Given the description of an element on the screen output the (x, y) to click on. 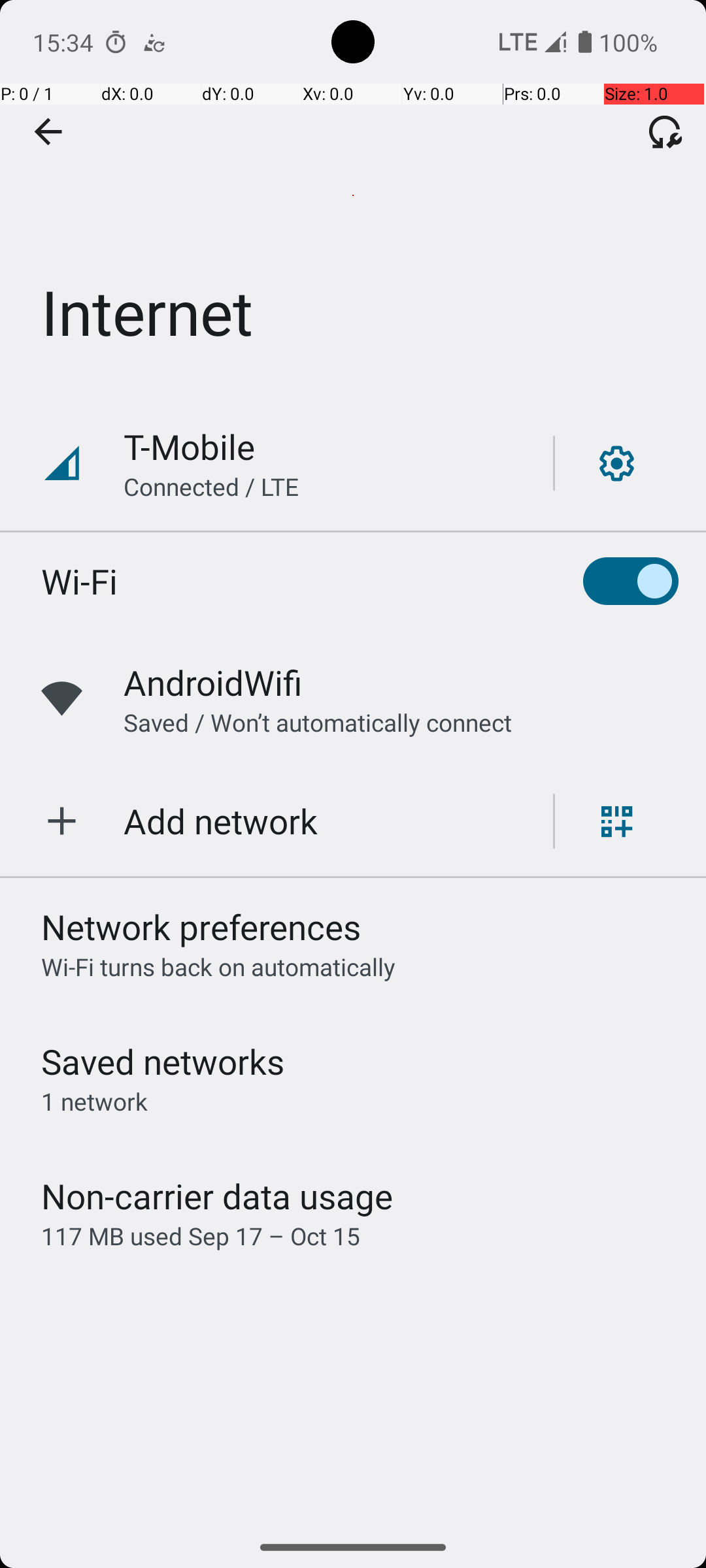
Fix connectivity Element type: android.widget.TextView (664, 131)
AndroidWifi,Saved / Won’t automatically connect,Wifi signal full.,Open network Element type: android.widget.LinearLayout (353, 698)
Connected / LTE Element type: android.widget.TextView (211, 486)
Wi-Fi Element type: android.widget.TextView (79, 580)
AndroidWifi Element type: android.widget.TextView (212, 682)
Saved / Won’t automatically connect Element type: android.widget.TextView (317, 721)
Add network Element type: android.widget.TextView (220, 820)
Scan QR code Element type: android.widget.ImageButton (616, 821)
Network preferences Element type: android.widget.TextView (201, 926)
Wi‑Fi turns back on automatically Element type: android.widget.TextView (218, 966)
Saved networks Element type: android.widget.TextView (163, 1061)
1 network Element type: android.widget.TextView (94, 1100)
Non-carrier data usage Element type: android.widget.TextView (216, 1195)
117 MB used Sep 17 – Oct 15 Element type: android.widget.TextView (200, 1235)
